Given the description of an element on the screen output the (x, y) to click on. 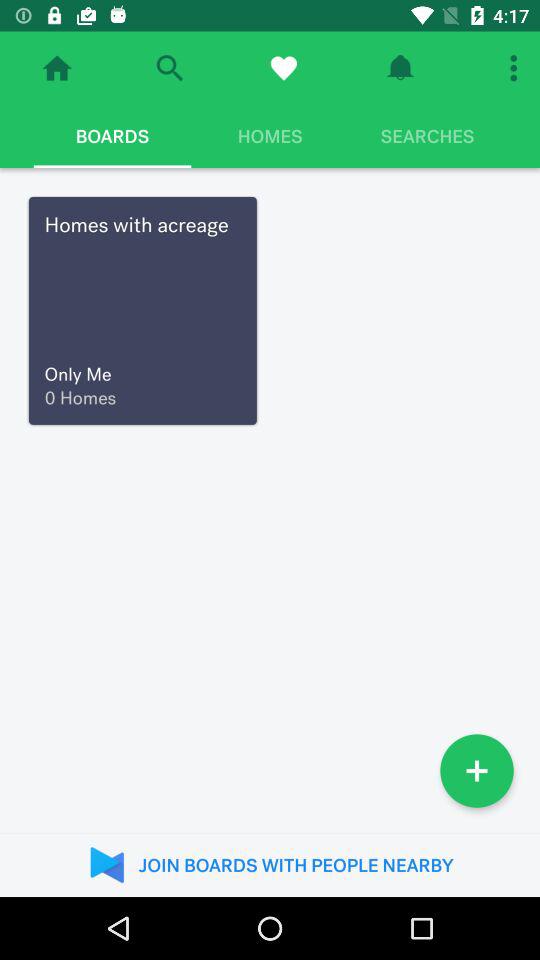
open home screen (57, 68)
